Given the description of an element on the screen output the (x, y) to click on. 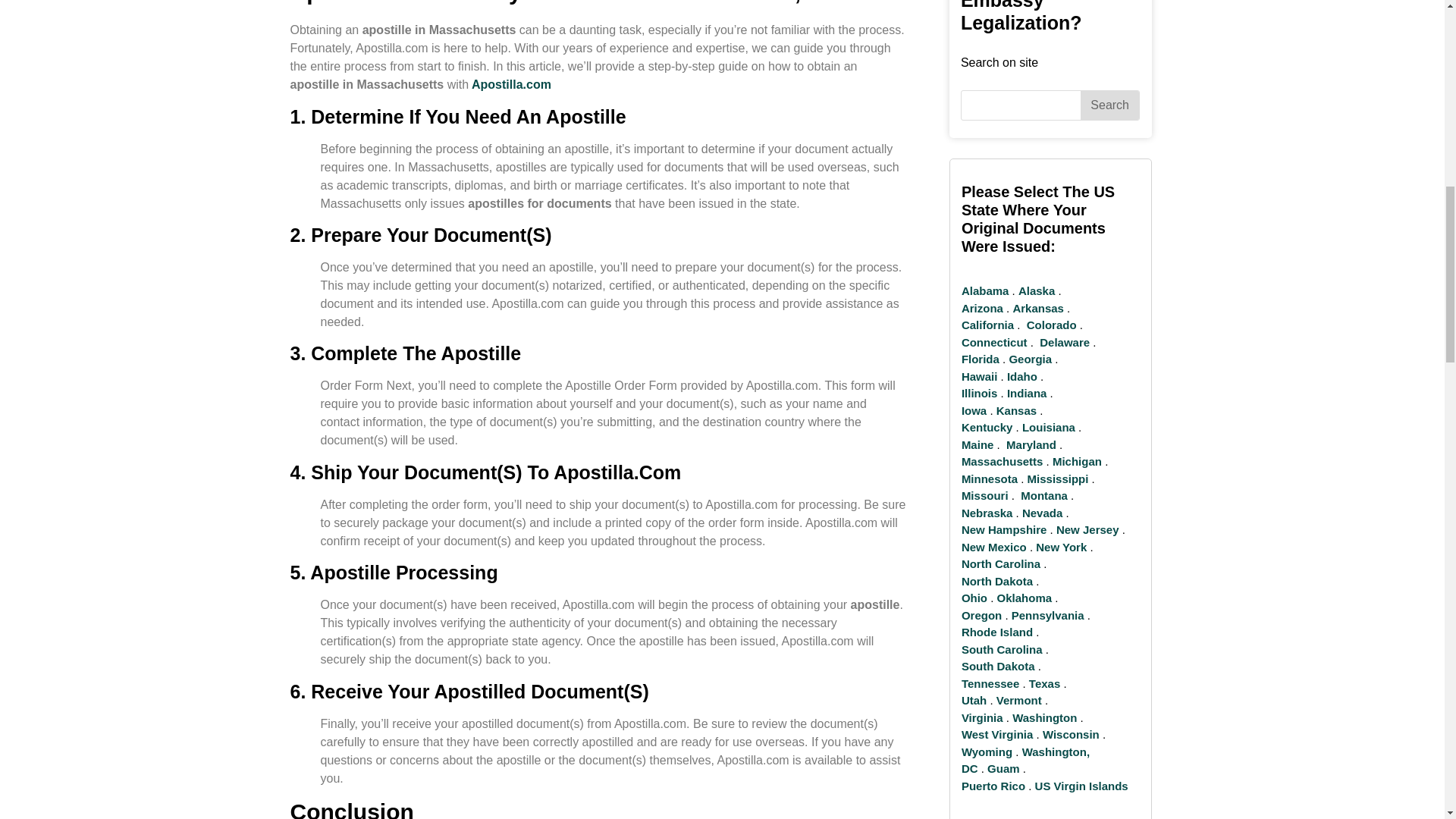
Arizona (981, 308)
Arkansas (1037, 308)
Georgia (1030, 358)
Colorado (1051, 324)
Hawaii (978, 376)
Alabama (984, 290)
Delaware (1064, 341)
Alaska (1035, 290)
Florida (979, 358)
Connecticut (993, 341)
Apostilla.com (509, 83)
California (986, 324)
Idaho (1021, 376)
Search (1109, 104)
